Given the description of an element on the screen output the (x, y) to click on. 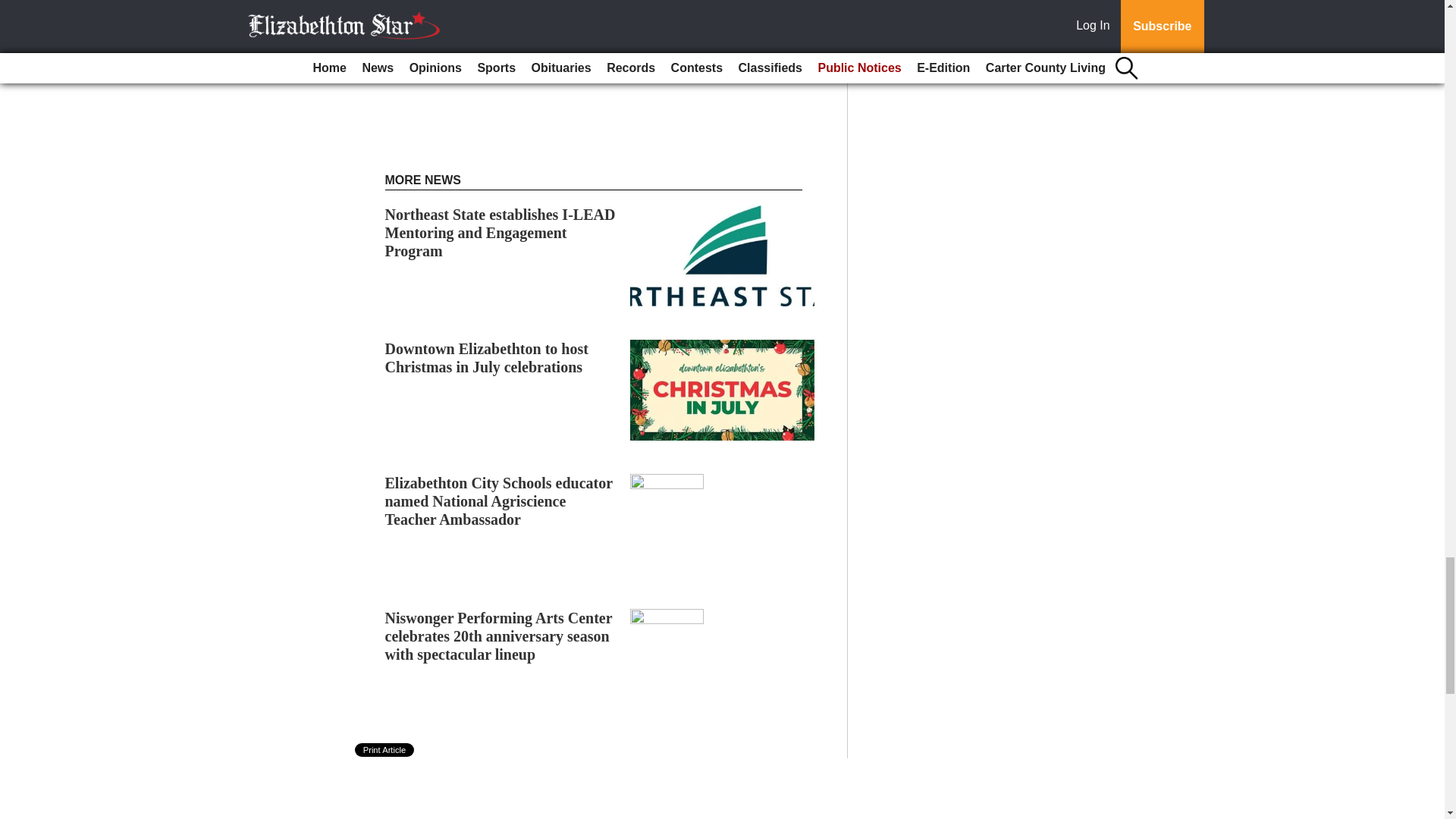
Downtown Elizabethton to host Christmas in July celebrations (486, 357)
Print Article (384, 749)
Downtown Elizabethton to host Christmas in July celebrations (486, 357)
